Given the description of an element on the screen output the (x, y) to click on. 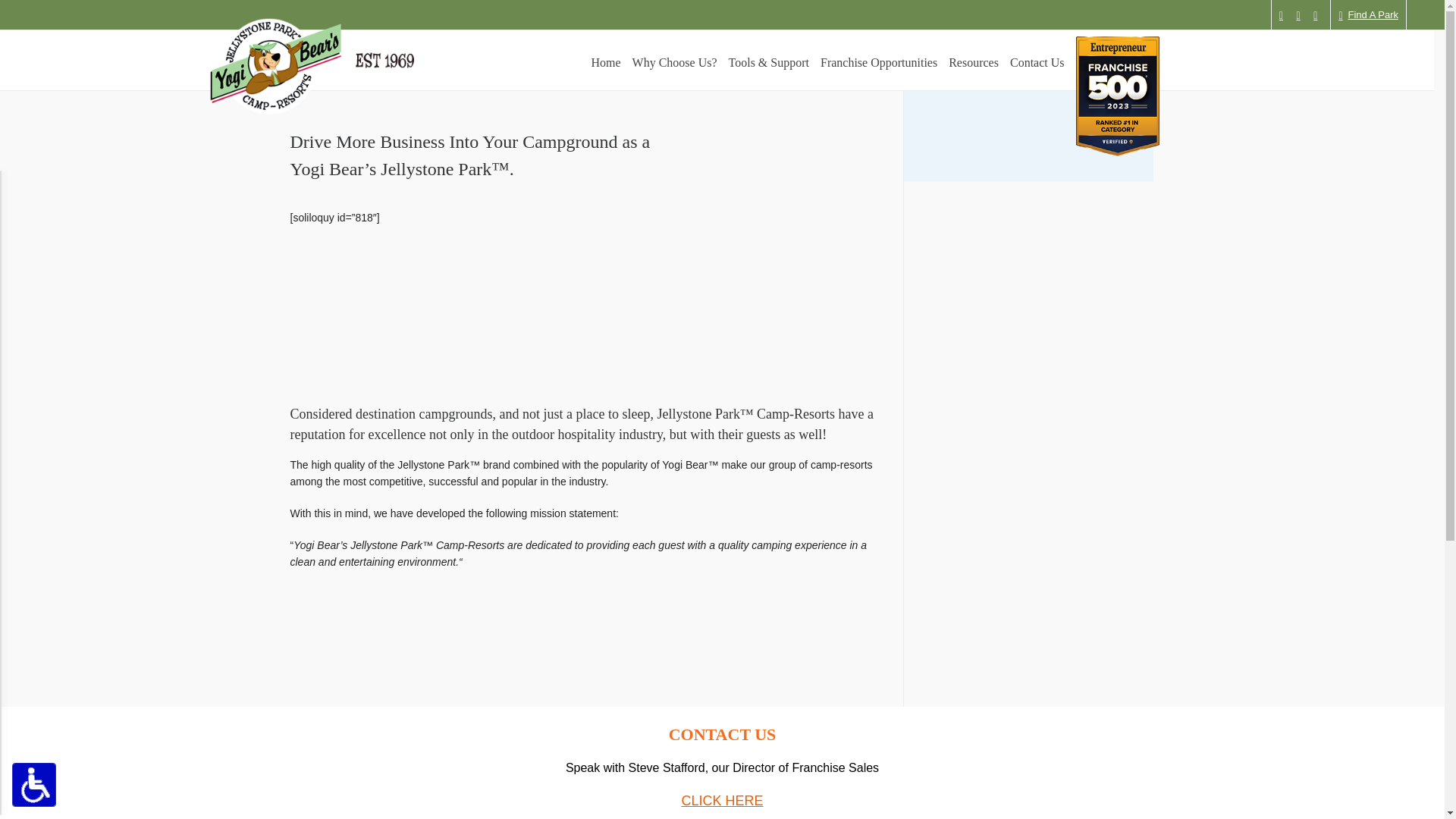
Why Choose Us? (674, 60)
Franchise Opportunities (878, 60)
Resources (973, 60)
CLICK HERE (1367, 15)
Contact Us (721, 800)
